Given the description of an element on the screen output the (x, y) to click on. 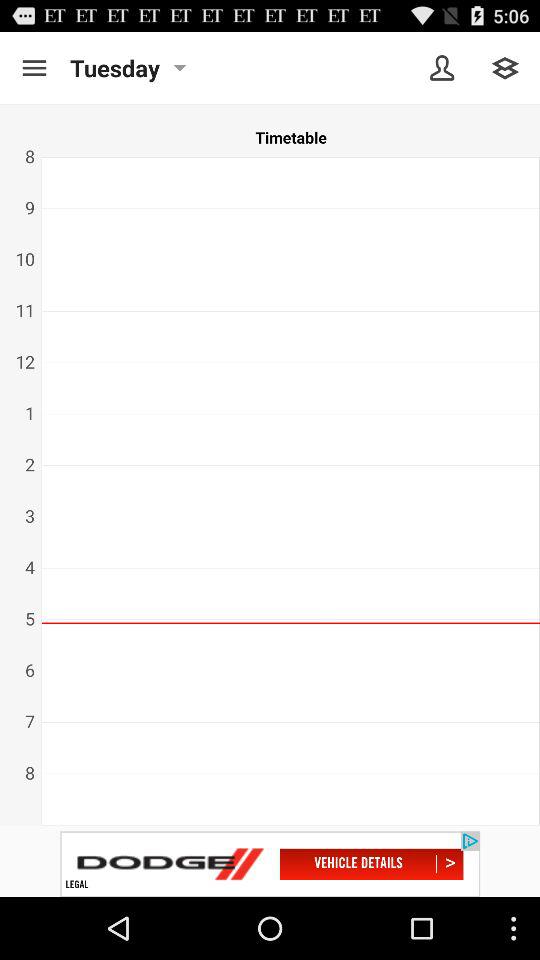
menu button (505, 68)
